Given the description of an element on the screen output the (x, y) to click on. 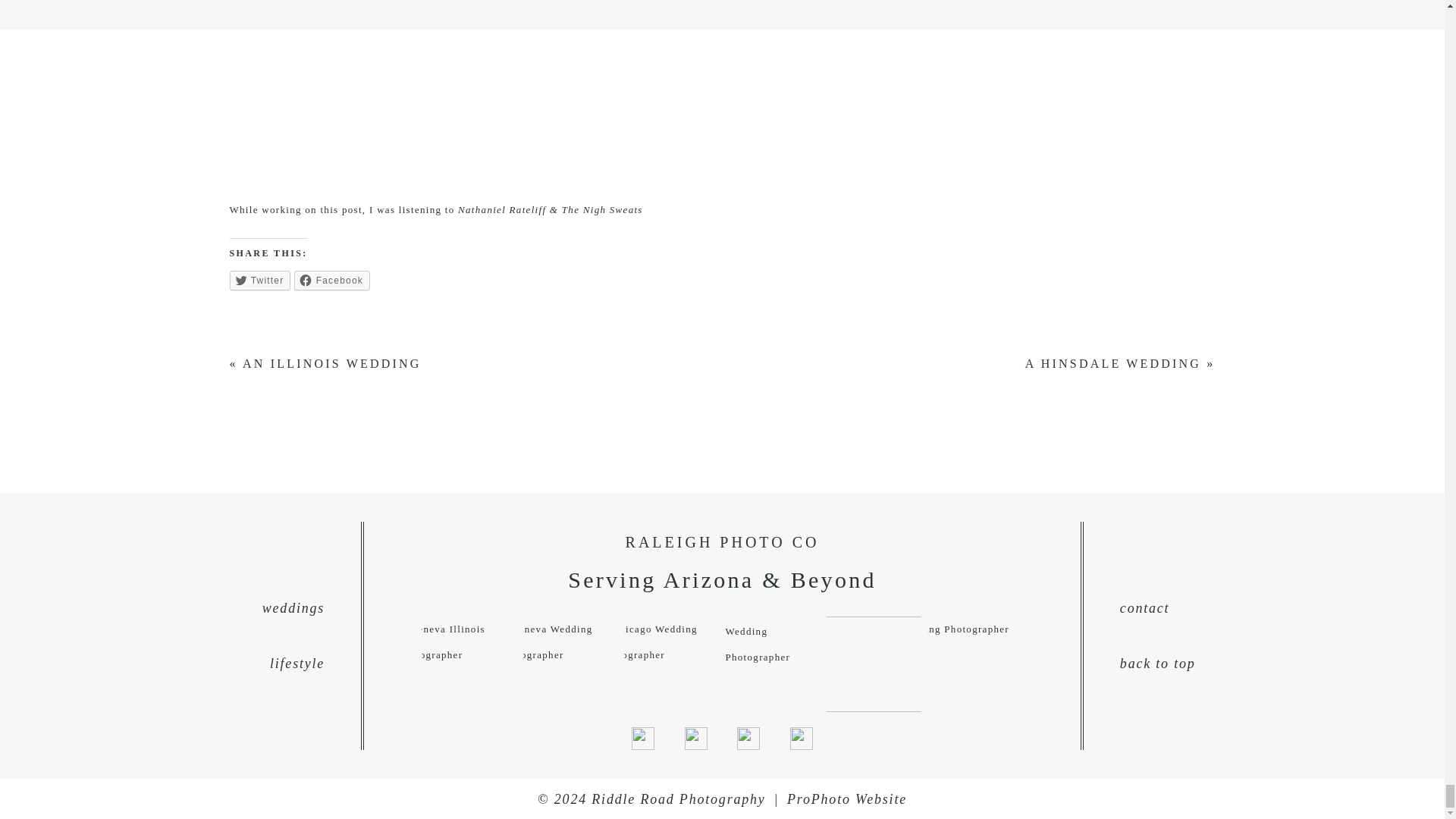
Click to share on Facebook (331, 280)
ProPhoto8 Blog (847, 798)
Click to share on Twitter (258, 280)
